Given the description of an element on the screen output the (x, y) to click on. 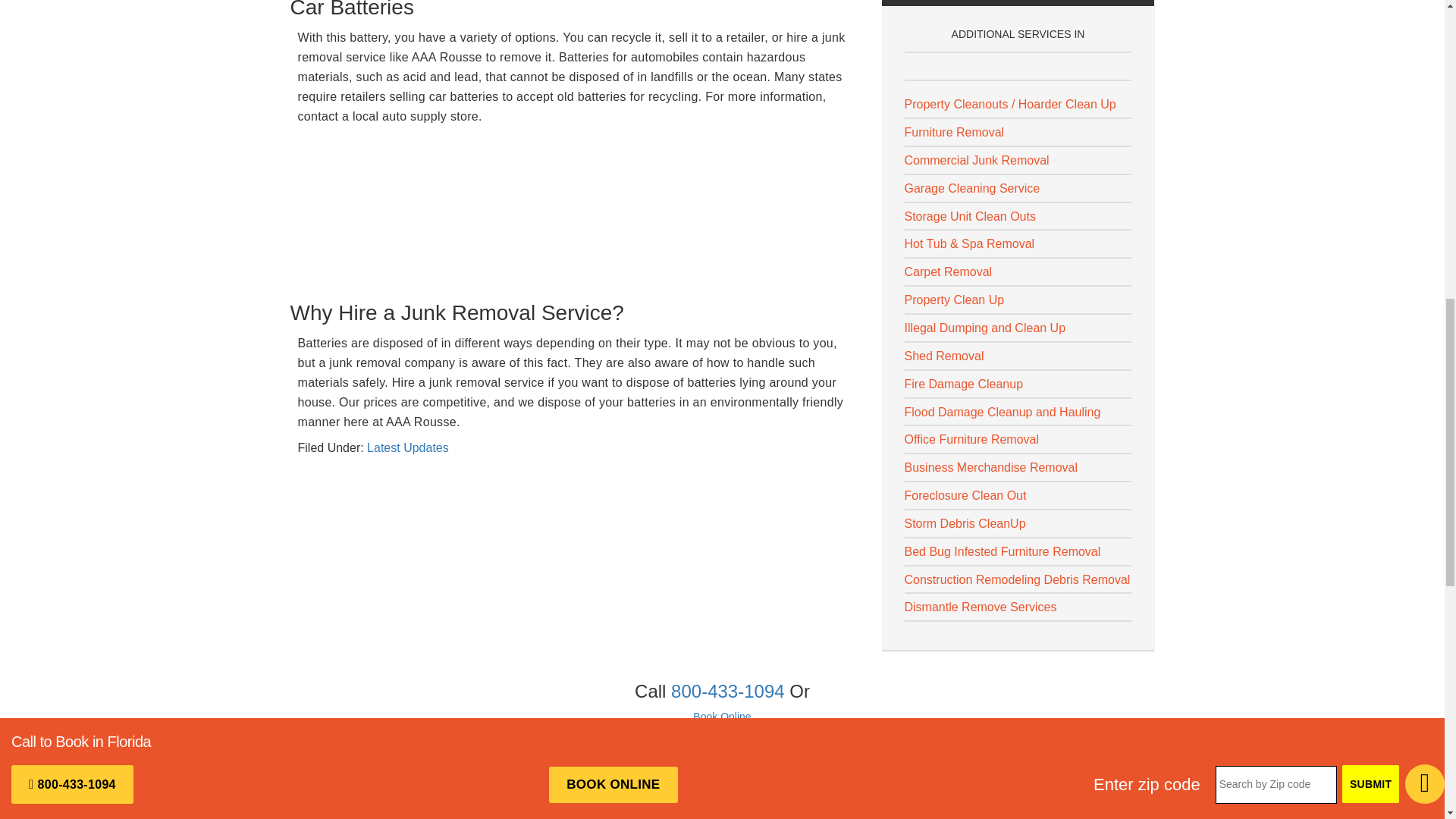
Storage Unit Clean Outs (969, 215)
Furniture Removal (954, 132)
Garage Cleaning Service (971, 187)
Commercial Junk Removal (976, 160)
Latest Updates (407, 447)
